Given the description of an element on the screen output the (x, y) to click on. 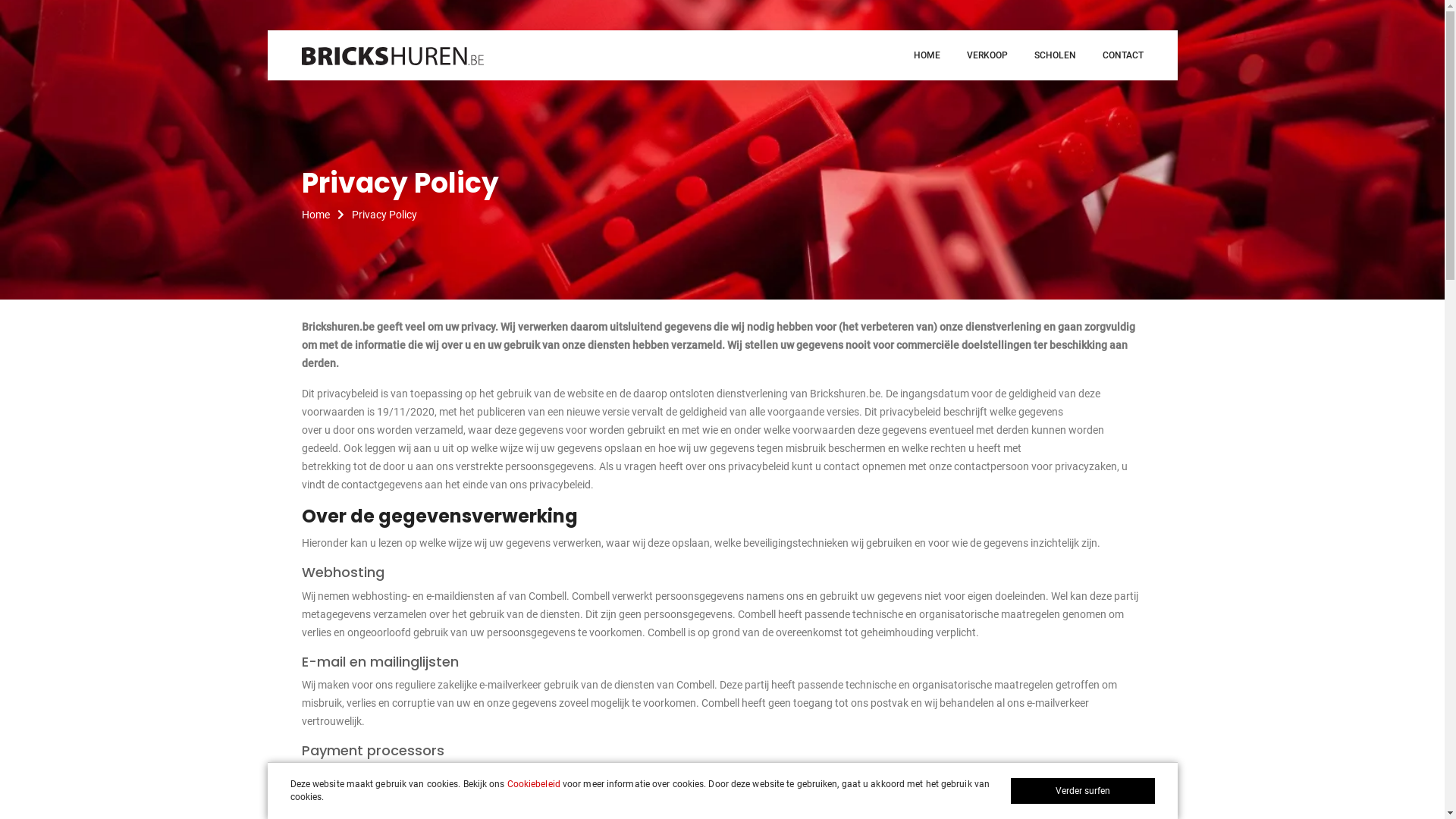
HOME Element type: text (926, 55)
Cookiebeleid Element type: text (533, 783)
VERKOOP Element type: text (986, 55)
SCHOLEN Element type: text (1055, 55)
CONTACT Element type: text (1122, 55)
Home Element type: text (326, 214)
Verder surfen Element type: text (1082, 790)
